Given the description of an element on the screen output the (x, y) to click on. 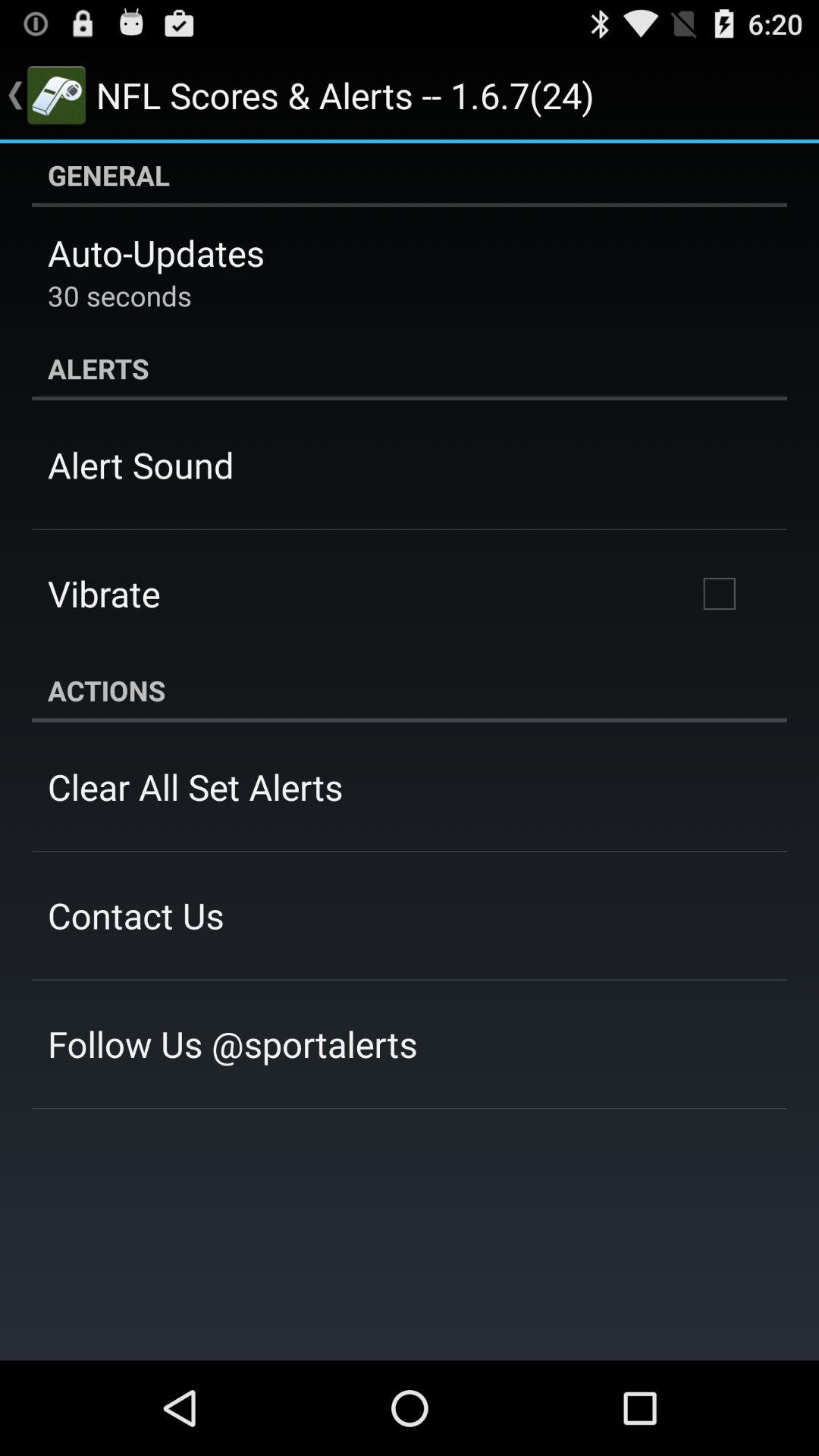
scroll to the follow us @sportalerts icon (232, 1043)
